Given the description of an element on the screen output the (x, y) to click on. 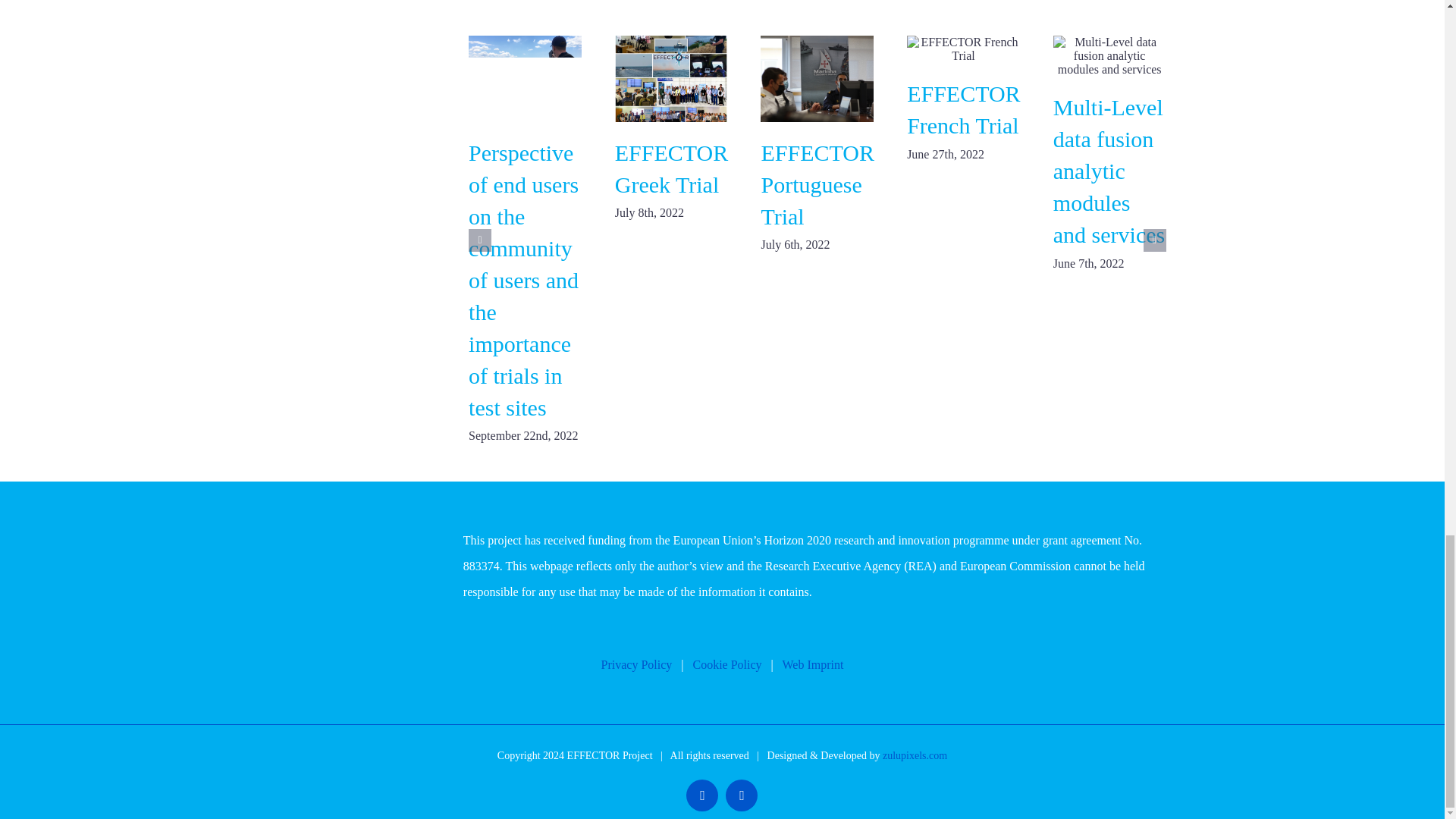
EFFECTOR Greek Trial (671, 168)
X (701, 795)
EU-emblem-150px (353, 562)
EFFECTOR Portuguese Trial (817, 184)
EFFECTOR French Trial (963, 109)
LinkedIn (741, 795)
